Given the description of an element on the screen output the (x, y) to click on. 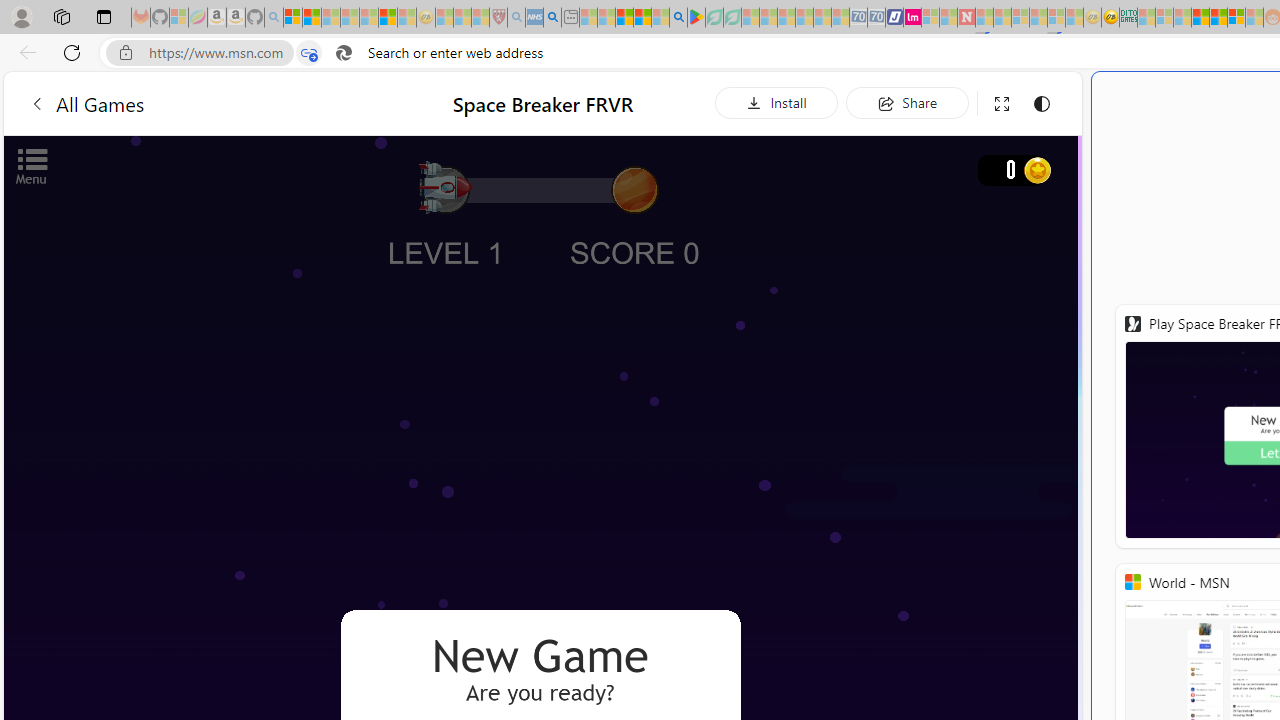
Kinda Frugal - MSN (1218, 17)
